Given the description of an element on the screen output the (x, y) to click on. 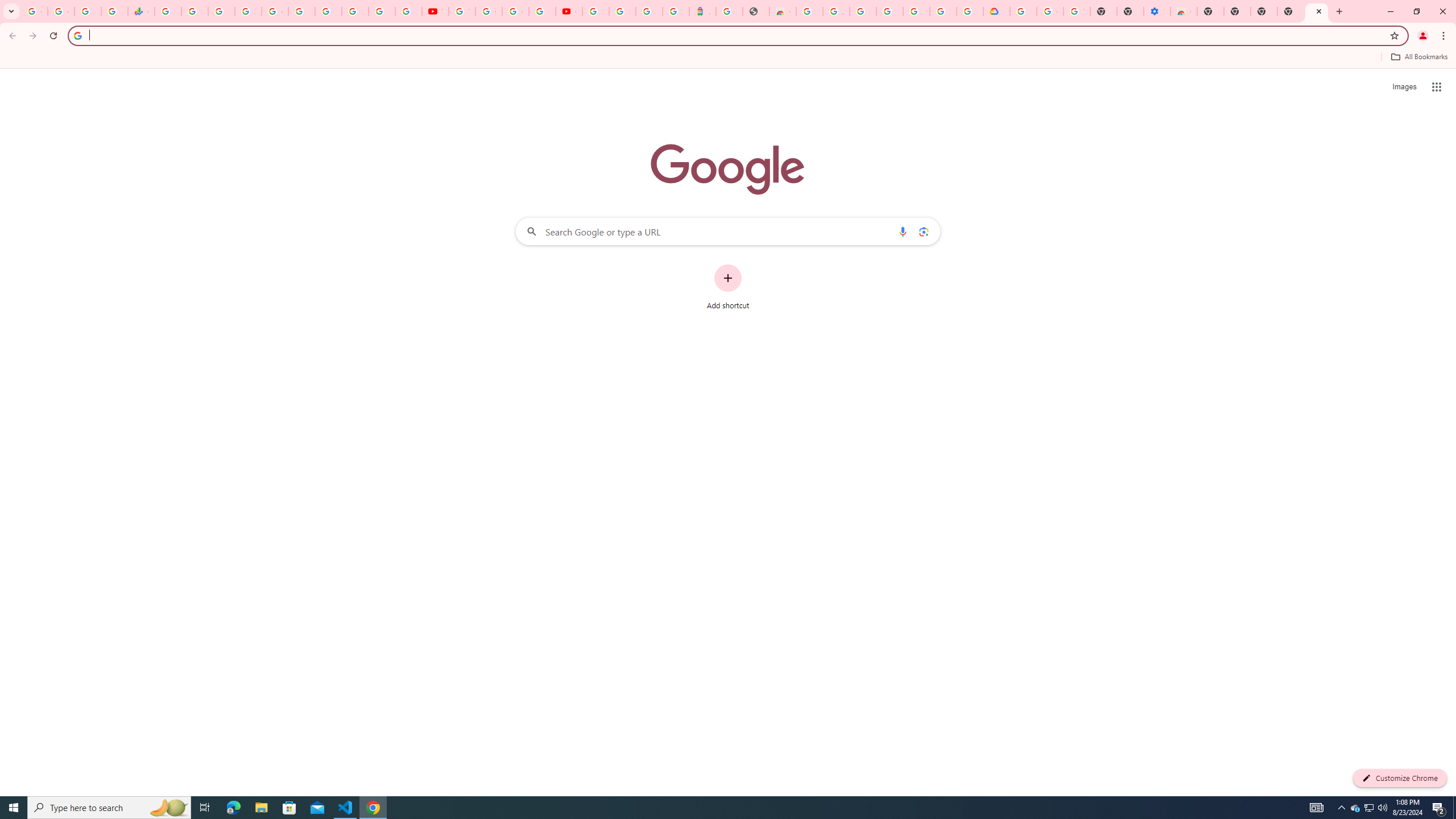
YouTube (462, 11)
Sign in - Google Accounts (943, 11)
Chrome Web Store - Accessibility extensions (1183, 11)
Google Account Help (1050, 11)
